Given the description of an element on the screen output the (x, y) to click on. 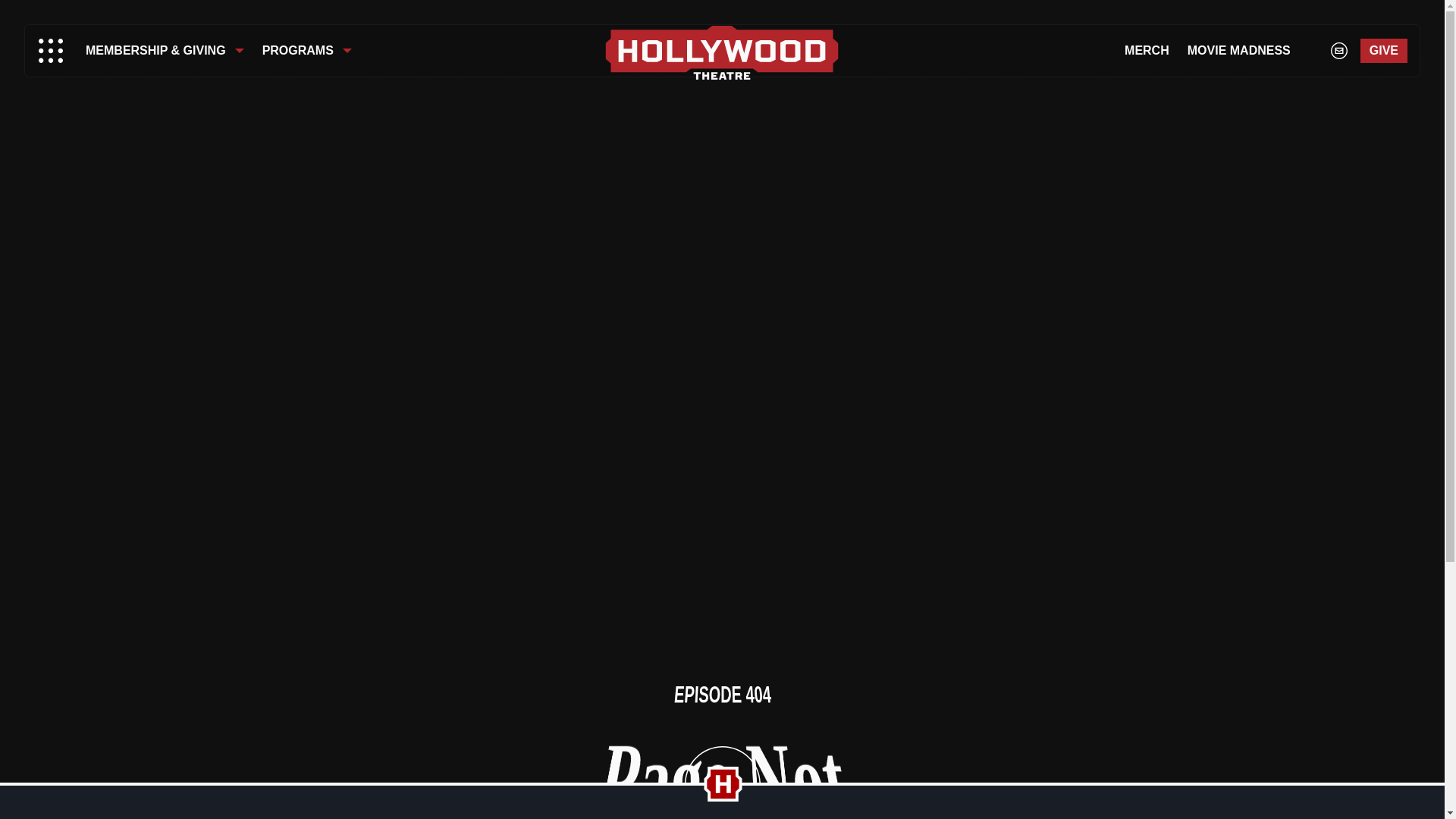
GIVE (1383, 50)
MERCH (1146, 50)
MOVIE MADNESS (1238, 50)
PROGRAMS (307, 50)
